Given the description of an element on the screen output the (x, y) to click on. 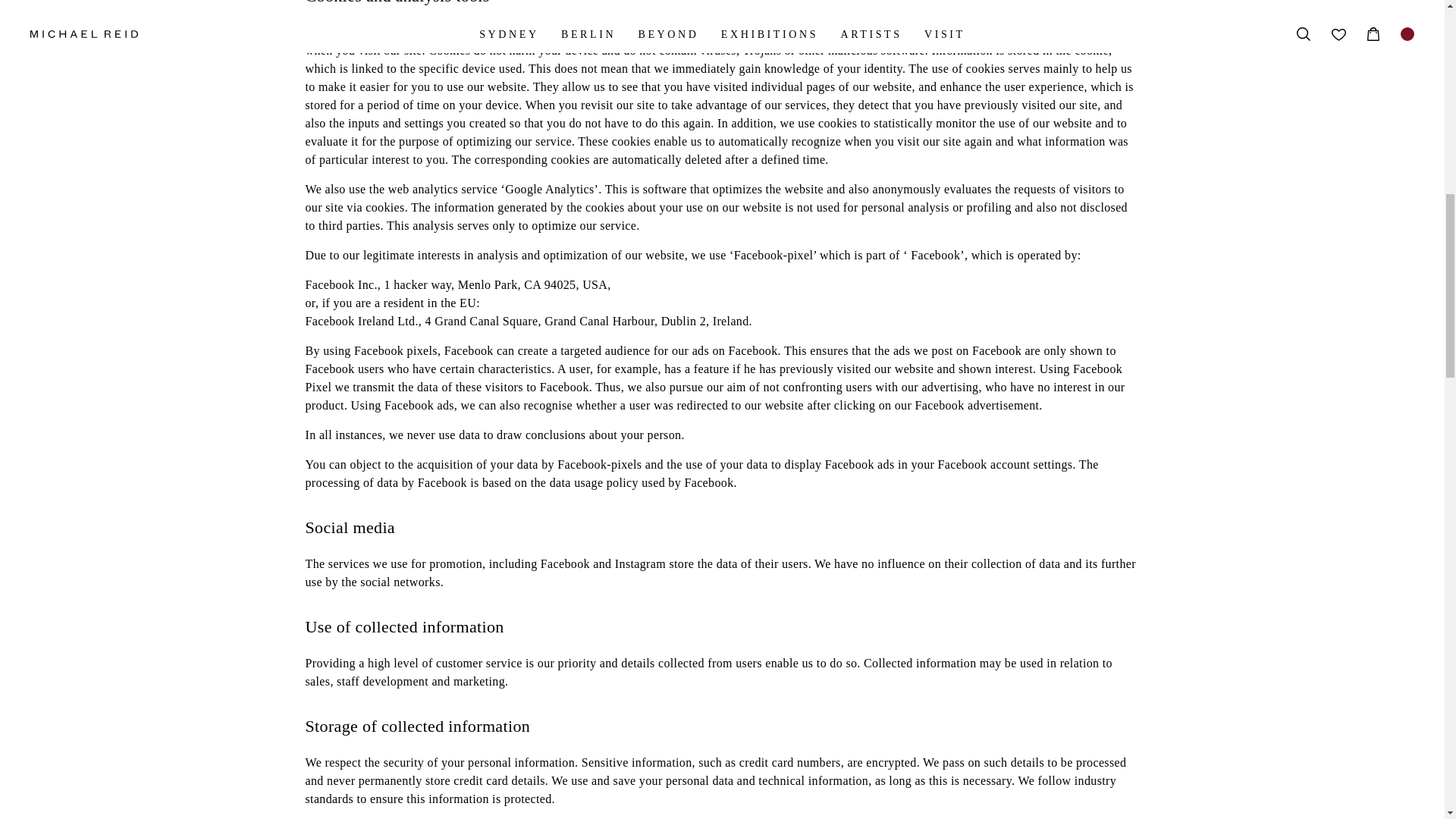
Berlin (498, 350)
Sydney (437, 350)
Southern Highlands (741, 350)
Submit (1051, 295)
Object (906, 350)
Northern Beaches (634, 350)
Submit (1051, 277)
Murrurundi (554, 350)
Clay (858, 350)
Land (963, 350)
